Given the description of an element on the screen output the (x, y) to click on. 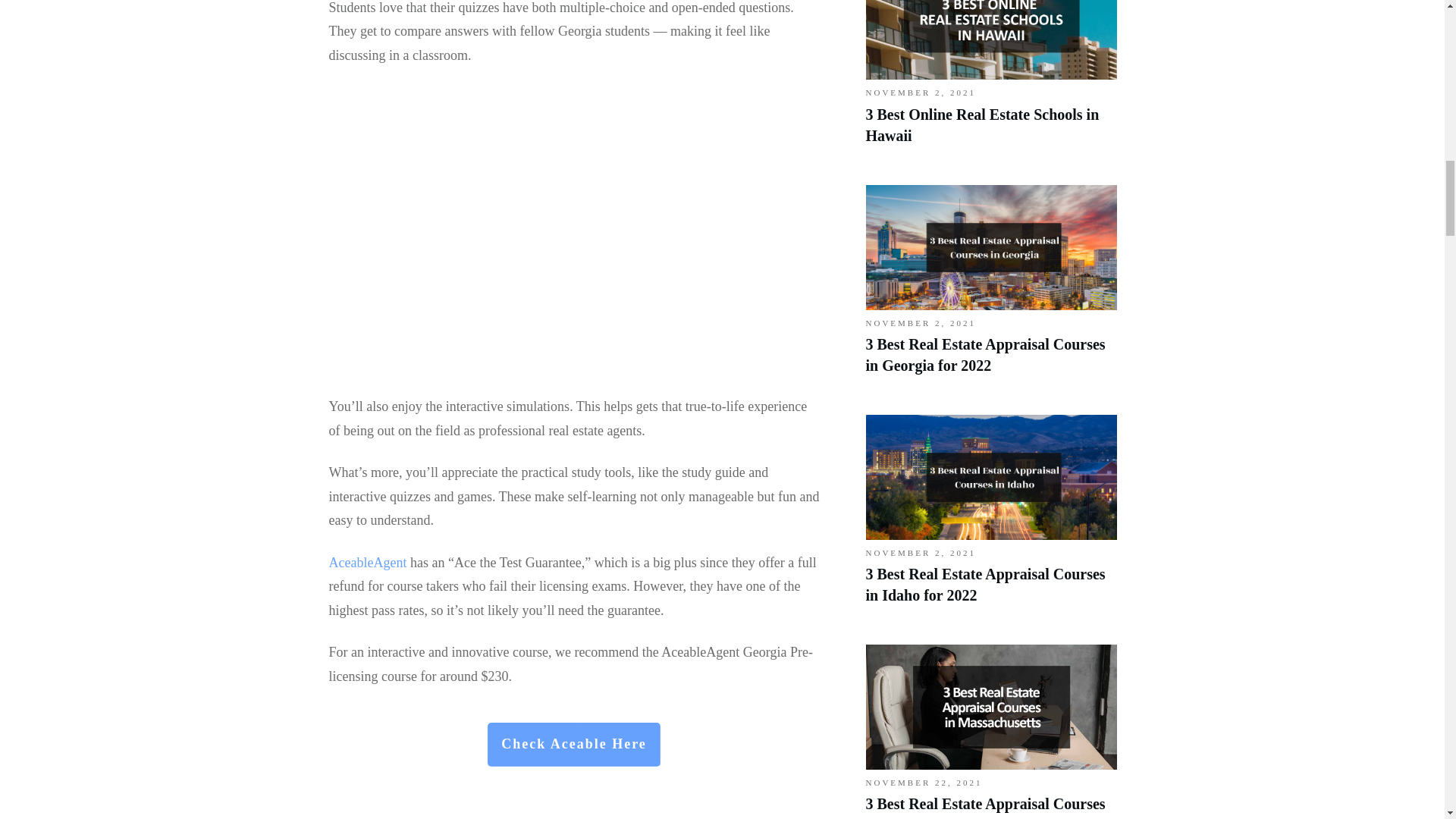
Check Aceable Here (574, 744)
AceableAgent (368, 562)
